Given the description of an element on the screen output the (x, y) to click on. 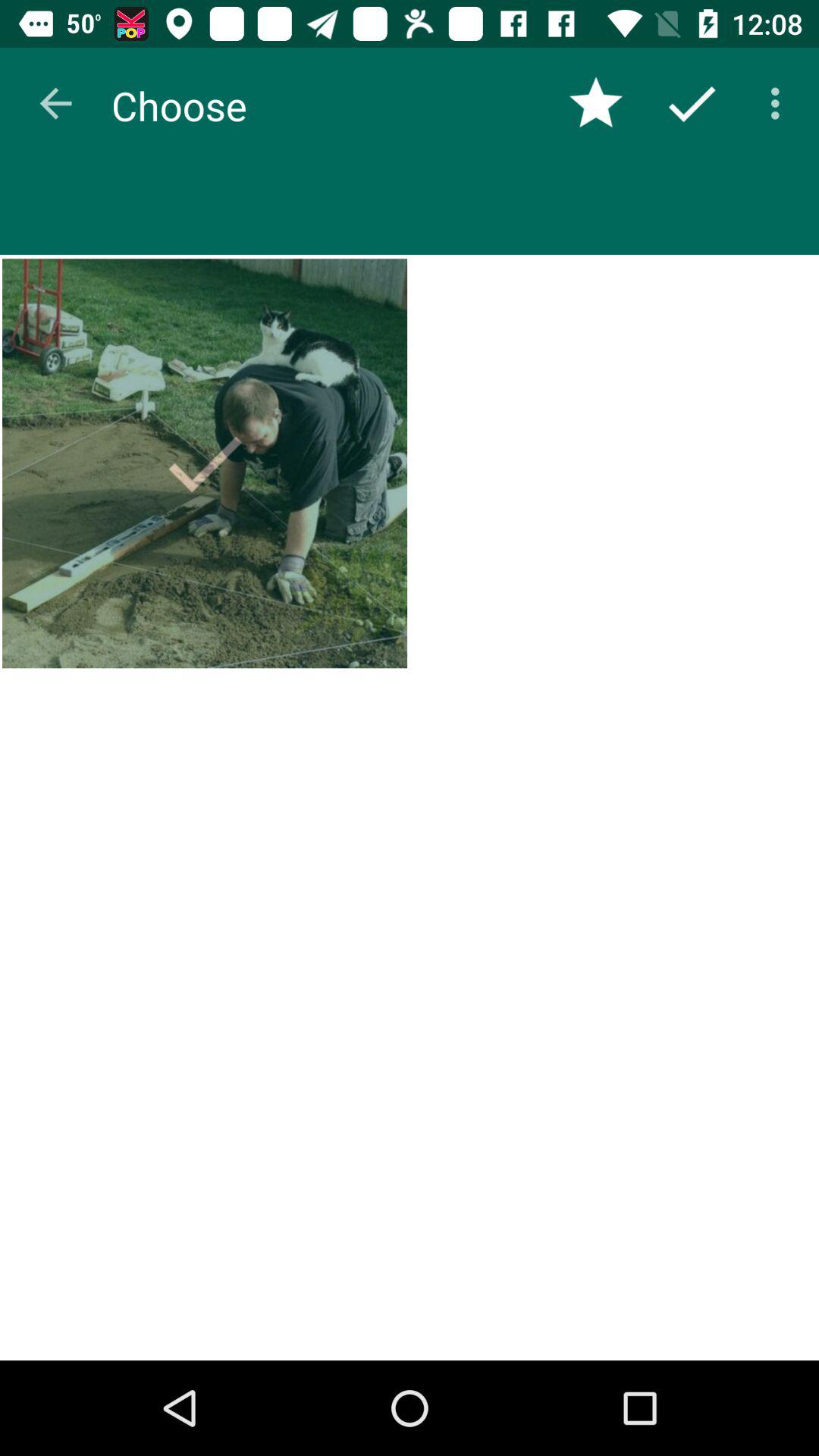
turn on the icon to the left of the choose item (55, 103)
